Given the description of an element on the screen output the (x, y) to click on. 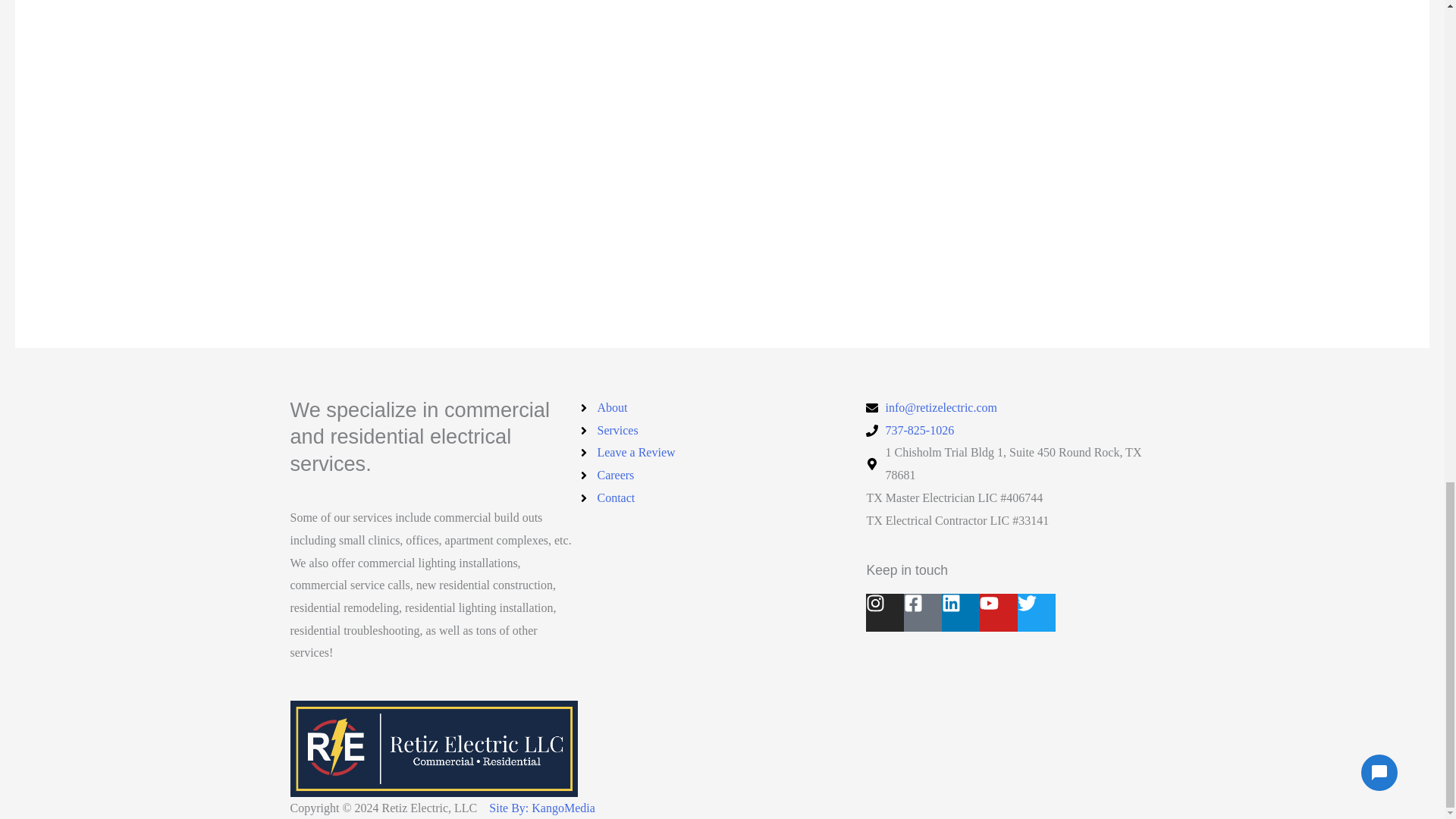
Facebook-square (923, 612)
Youtube (998, 612)
Instagram (885, 612)
Linkedin (960, 612)
Contact (722, 497)
Services (722, 430)
Leave a Review (722, 452)
Careers (722, 475)
737-825-1026 (1010, 430)
About (722, 407)
Twitter (1036, 612)
